Given the description of an element on the screen output the (x, y) to click on. 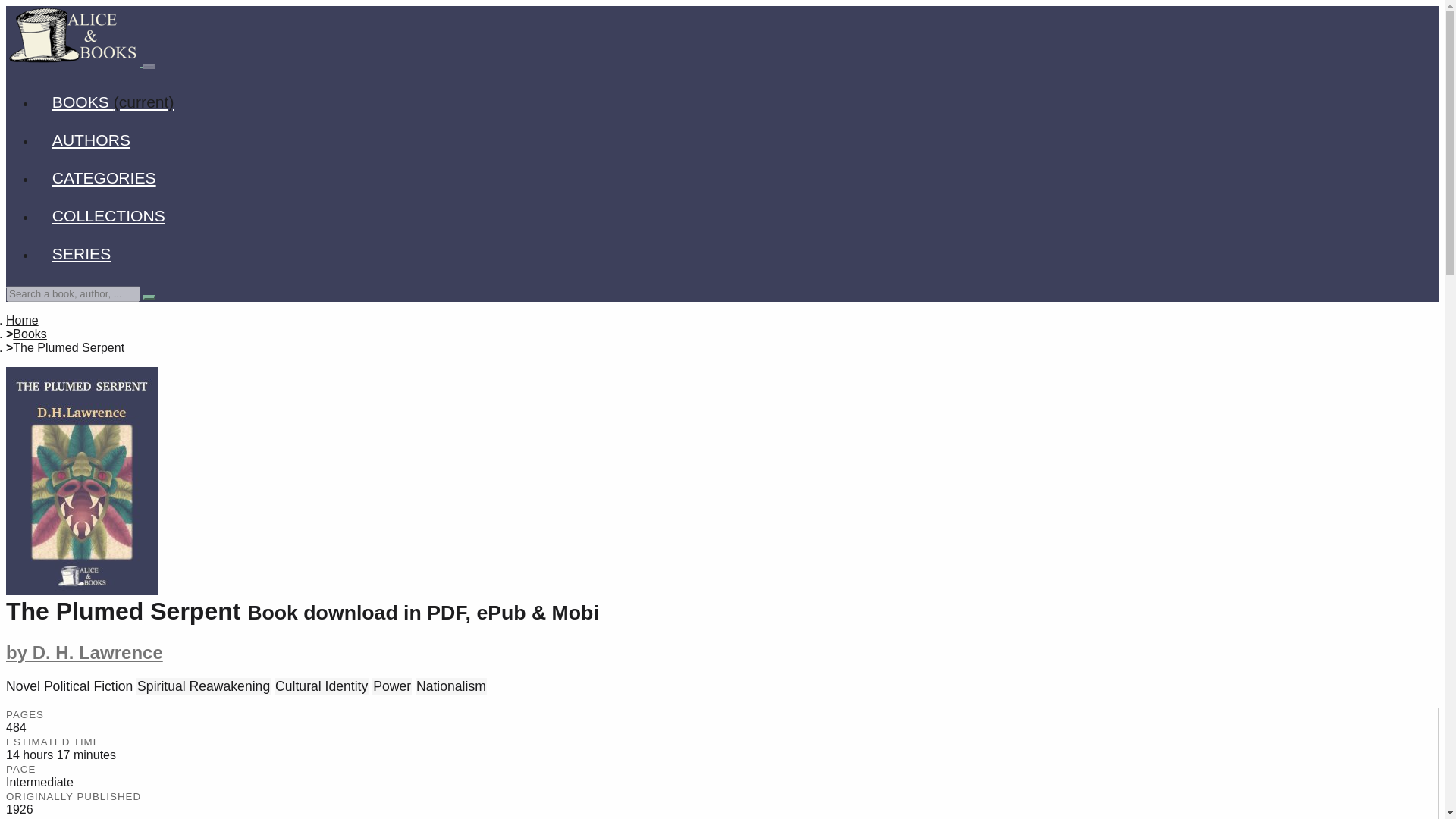
Books (29, 333)
SERIES (81, 253)
AUTHORS (91, 139)
COLLECTIONS (108, 215)
CATEGORIES (103, 177)
The Plumed Serpent (81, 480)
by D. H. Lawrence (84, 652)
Home (22, 319)
